Given the description of an element on the screen output the (x, y) to click on. 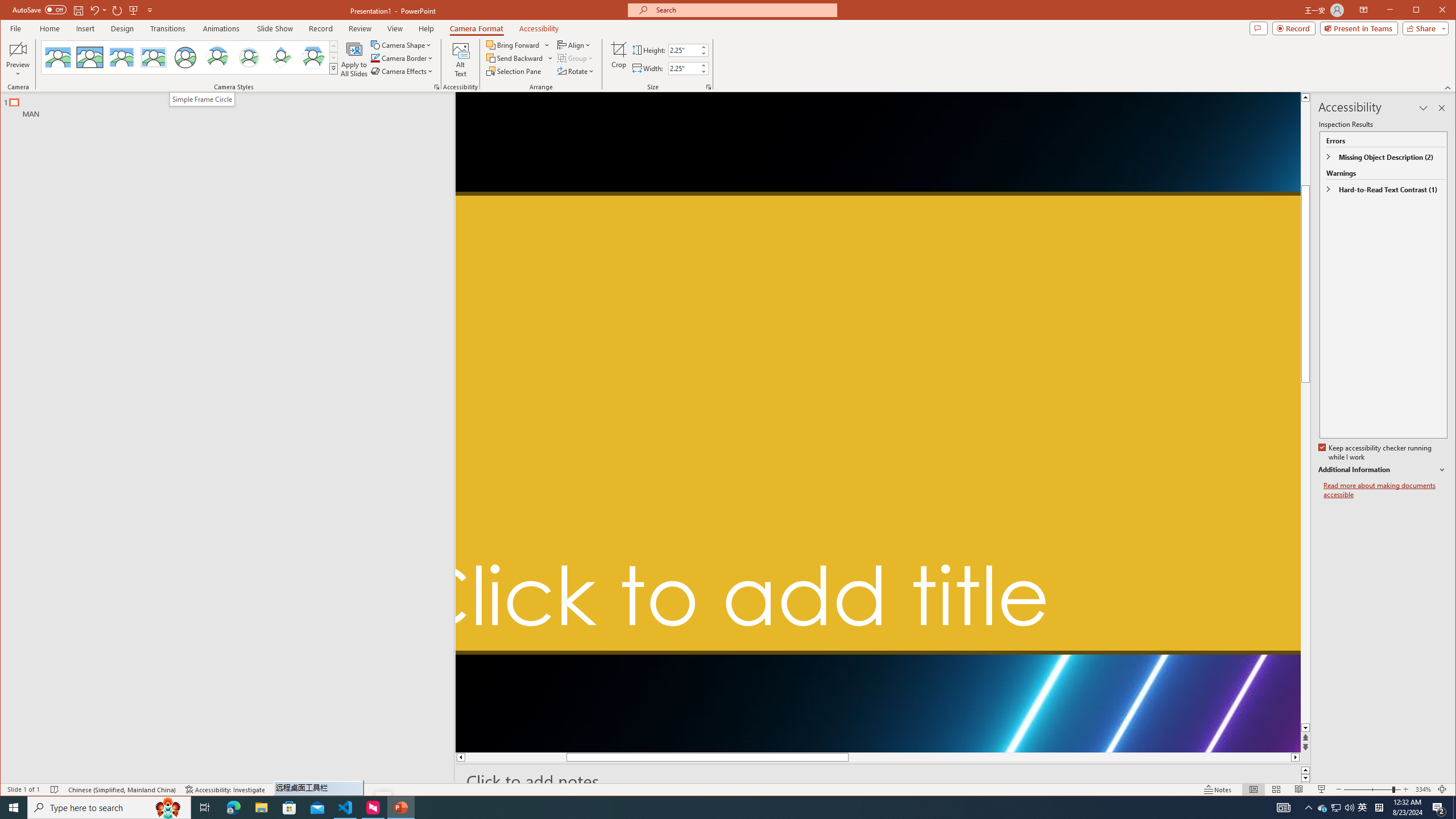
Apply to All Slides (354, 59)
Send Backward (520, 57)
Outline (231, 104)
Simple Frame Circle (201, 98)
Enable Camera Preview (17, 48)
Page up (1305, 177)
